Given the description of an element on the screen output the (x, y) to click on. 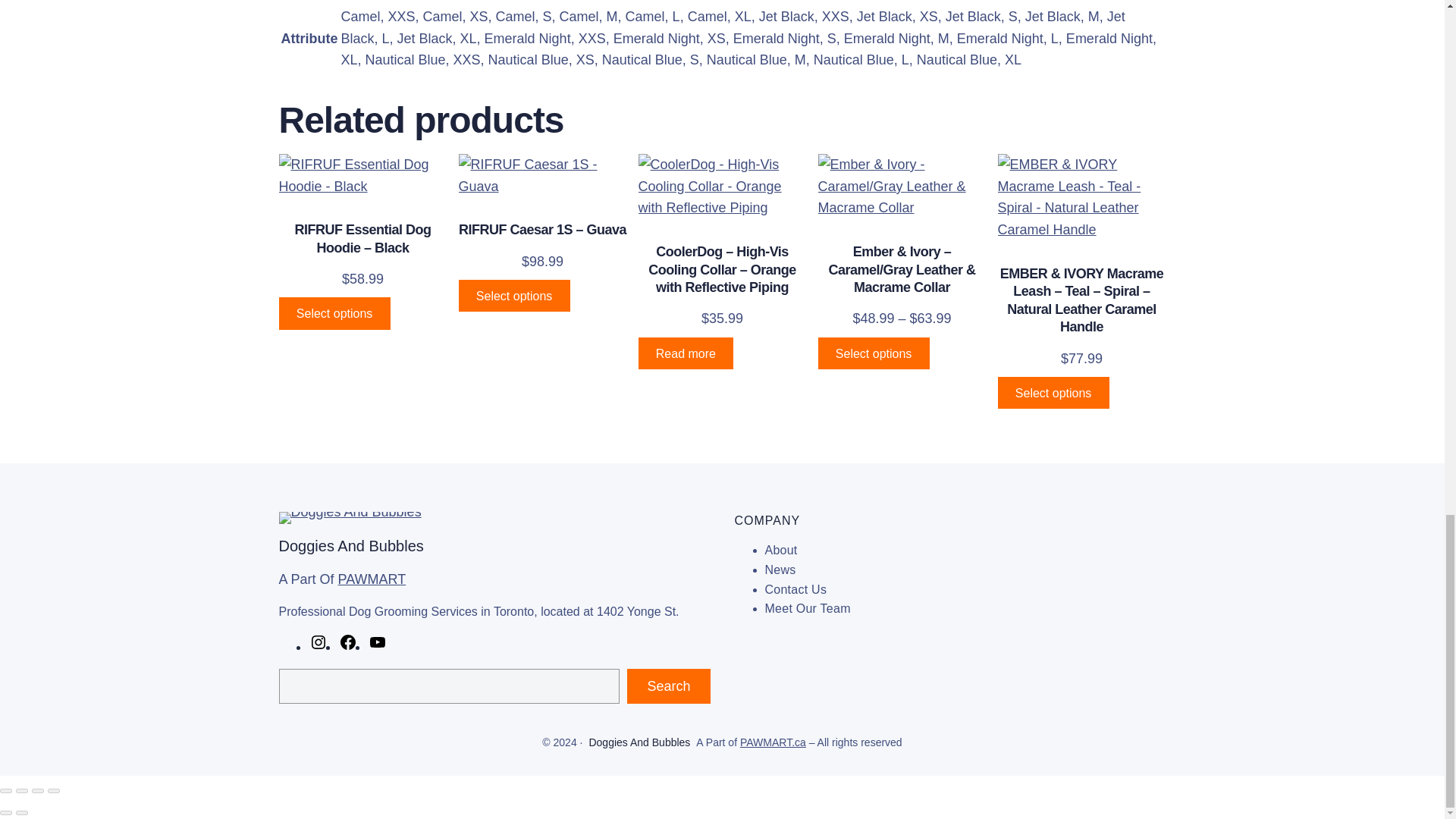
Select options (334, 313)
Select options (513, 296)
